Given the description of an element on the screen output the (x, y) to click on. 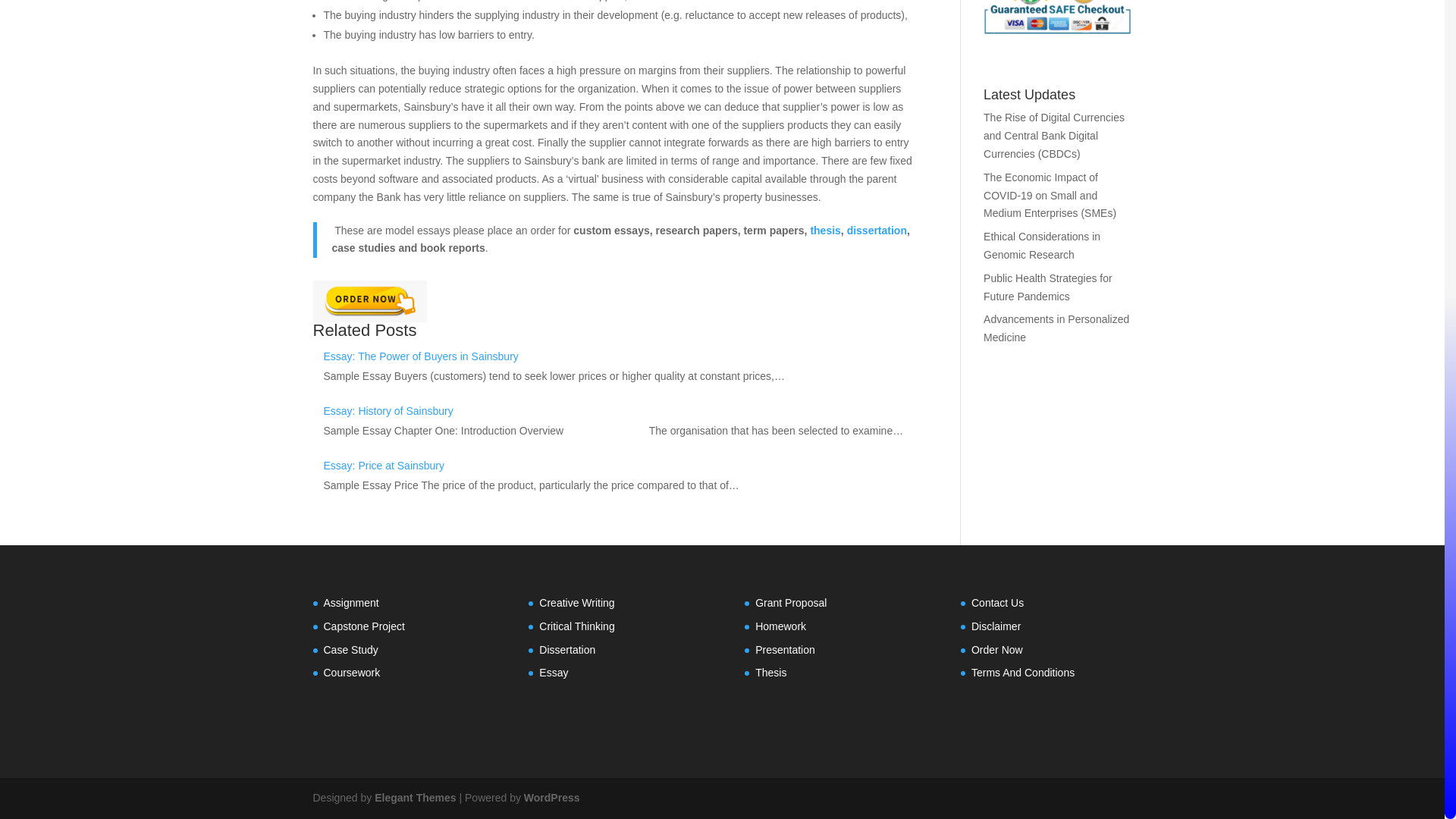
Premium WordPress Themes (414, 797)
Order Now (369, 301)
